Given the description of an element on the screen output the (x, y) to click on. 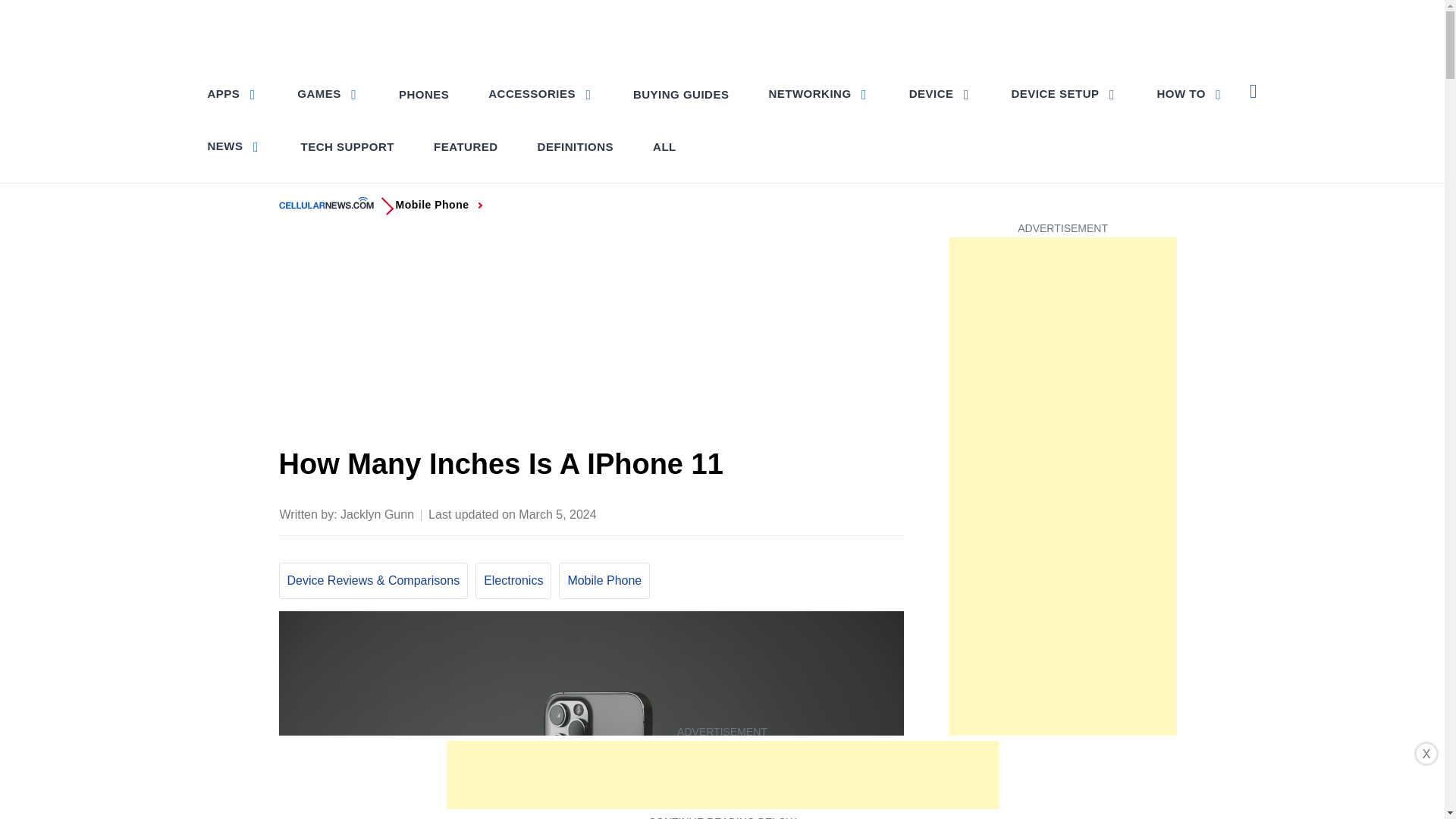
Share on facebook (740, 512)
Copy to Clipboard (860, 512)
Share on Pinterest (800, 512)
ACCESSORIES (540, 93)
Mail the Link (890, 512)
Share on twitter (769, 512)
PHONES (424, 94)
DEVICE (940, 93)
NETWORKING (818, 93)
Advertisement (591, 336)
